Given the description of an element on the screen output the (x, y) to click on. 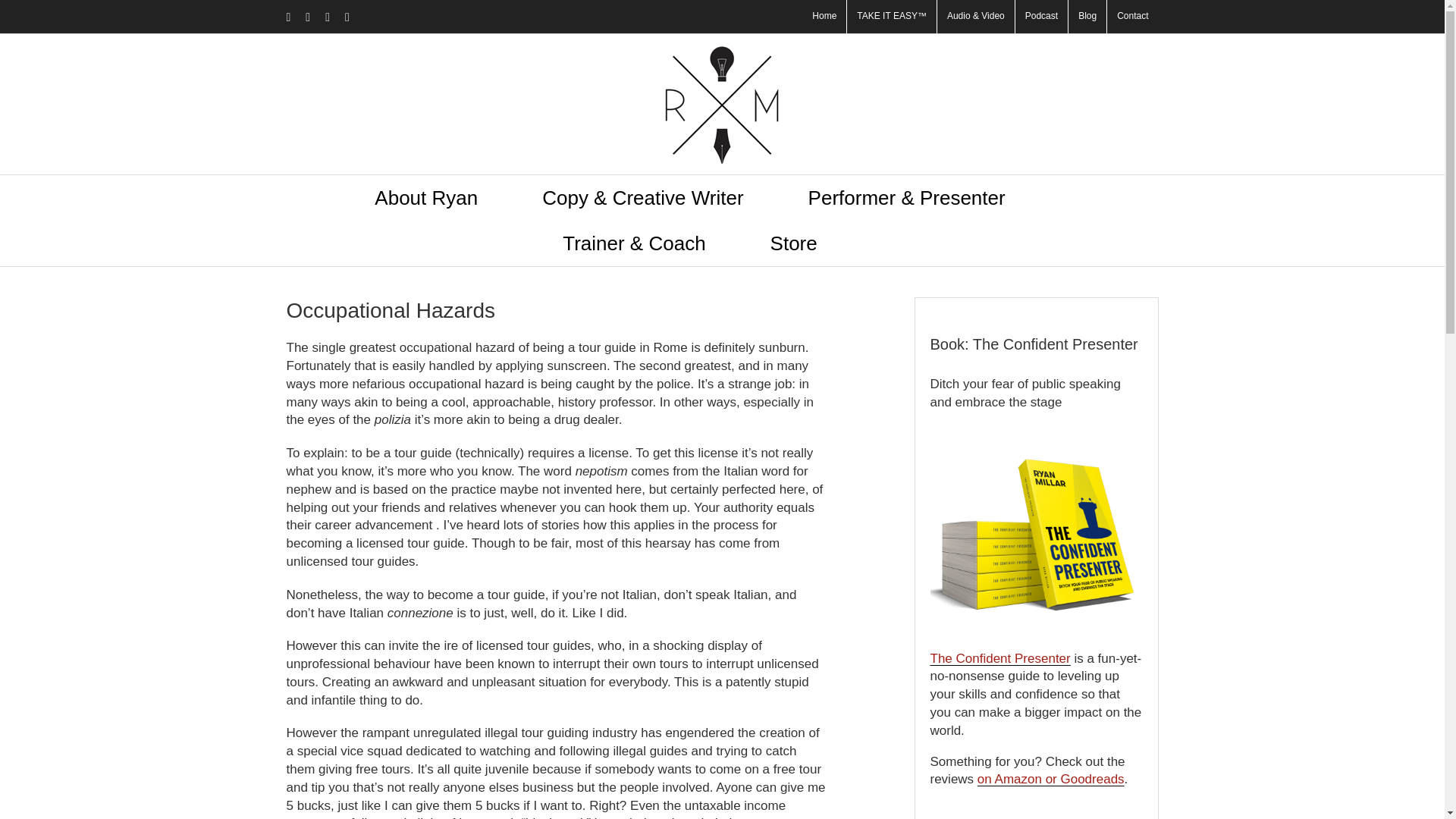
Contact (1131, 16)
on Amazon or Goodreads (1050, 779)
Store (793, 243)
Home (823, 16)
Podcast (1040, 16)
Blog (1087, 16)
About Ryan (425, 197)
The Confident Presenter (1000, 658)
